Given the description of an element on the screen output the (x, y) to click on. 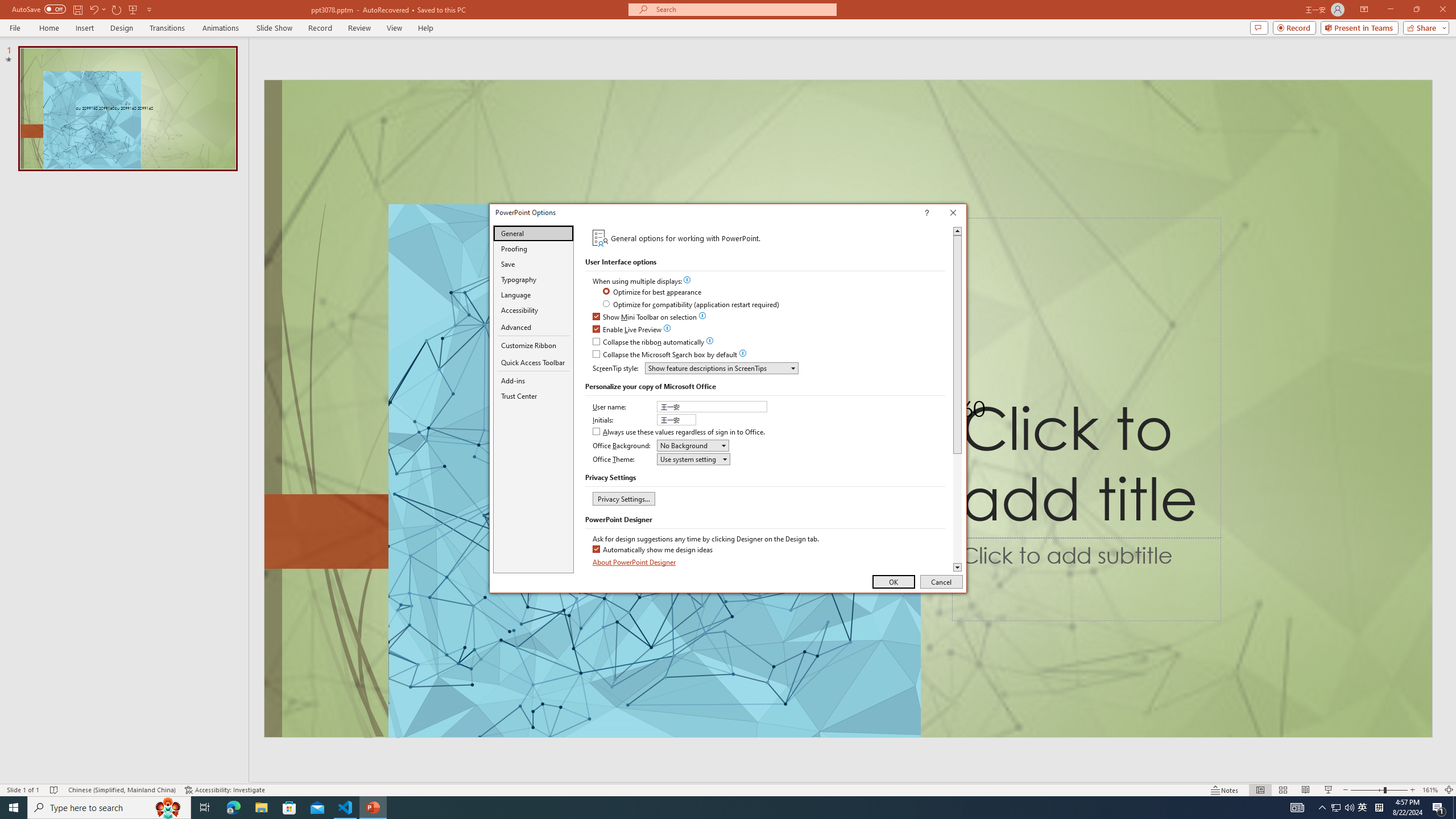
Task View (204, 807)
Line up (957, 230)
Trust Center (533, 395)
Language (533, 294)
Class: MsoCommandBar (728, 789)
File Explorer (261, 807)
Office Theme (693, 458)
User name (712, 406)
